Given the description of an element on the screen output the (x, y) to click on. 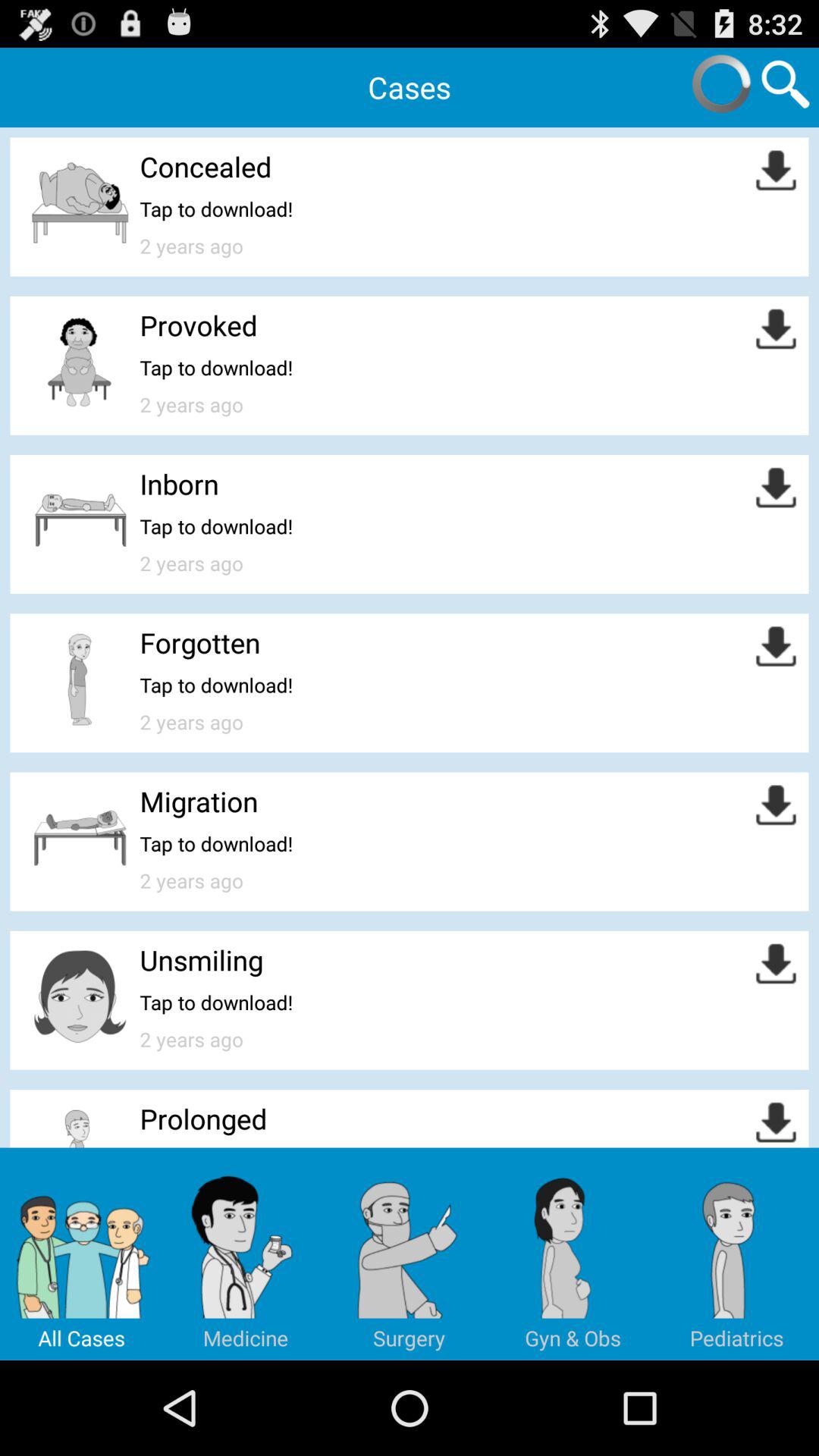
choose the item above the tap to download! item (199, 642)
